Given the description of an element on the screen output the (x, y) to click on. 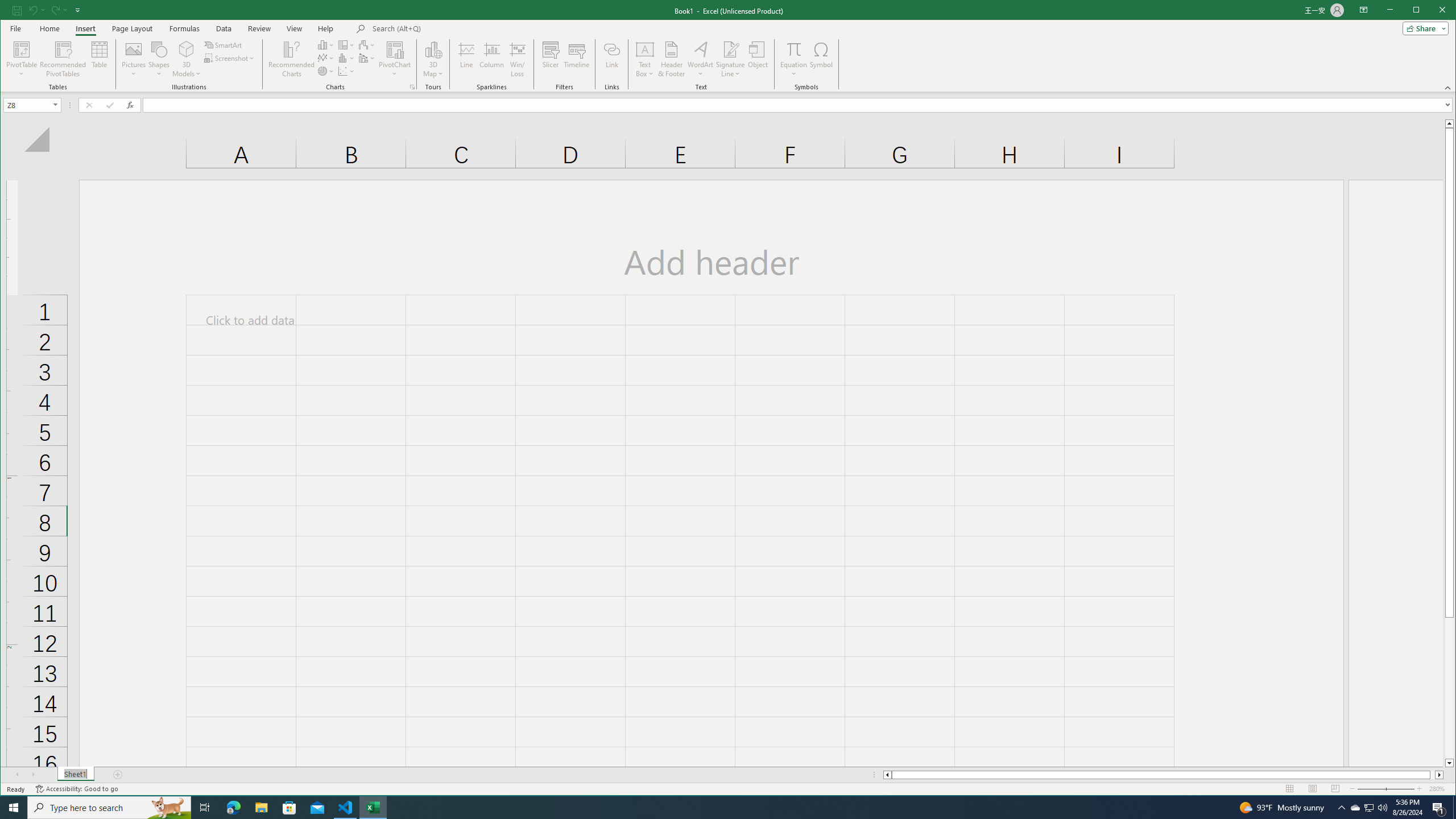
Excel - 1 running window (373, 807)
Q2790: 100% (1382, 807)
3D Models (186, 48)
Recommended PivotTables (63, 59)
Insert Column or Bar Chart (325, 44)
Action Center, 1 new notification (1439, 807)
Insert Scatter (X, Y) or Bubble Chart (346, 70)
Show desktop (1454, 807)
